Given the description of an element on the screen output the (x, y) to click on. 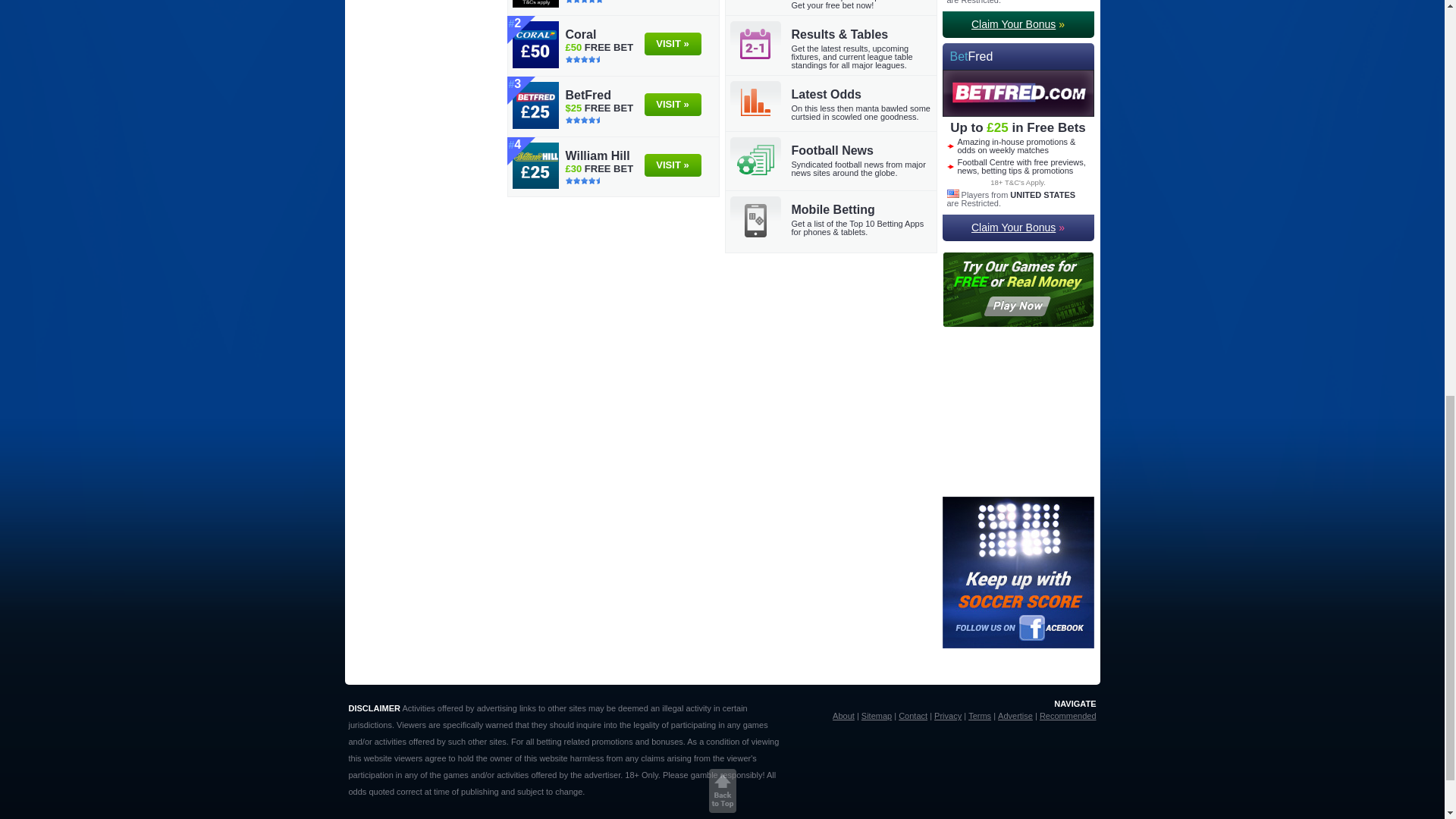
Play FREE or Real Money Casino Games (1017, 323)
